Given the description of an element on the screen output the (x, y) to click on. 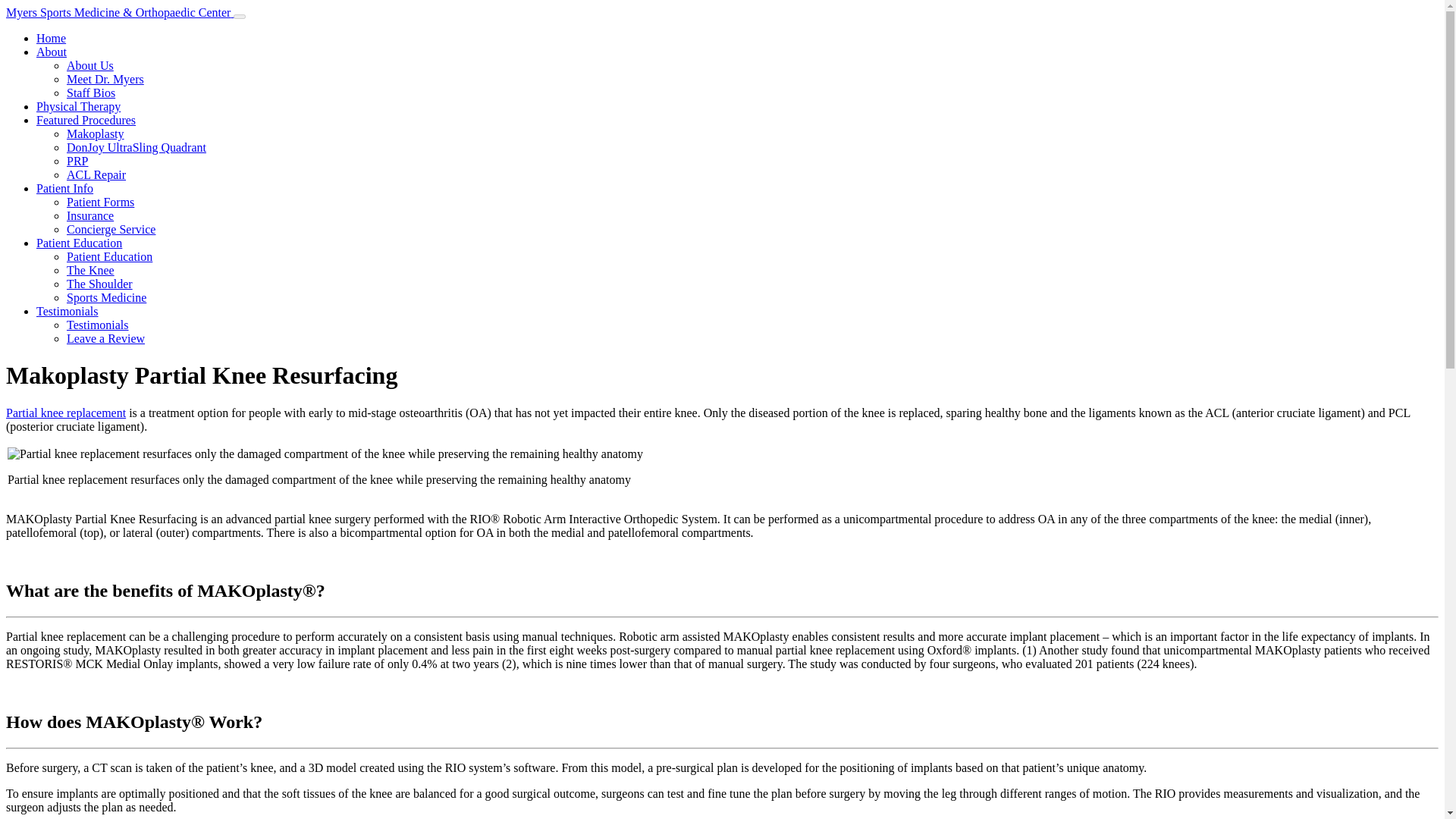
Meet Dr. Myers (105, 78)
Concierge Service (110, 228)
Physical Therapy (78, 106)
About (51, 51)
The Shoulder (99, 283)
Patient Forms (99, 201)
Sports Medicine (106, 297)
PRP (76, 160)
Testimonials (67, 310)
Home (50, 38)
